Given the description of an element on the screen output the (x, y) to click on. 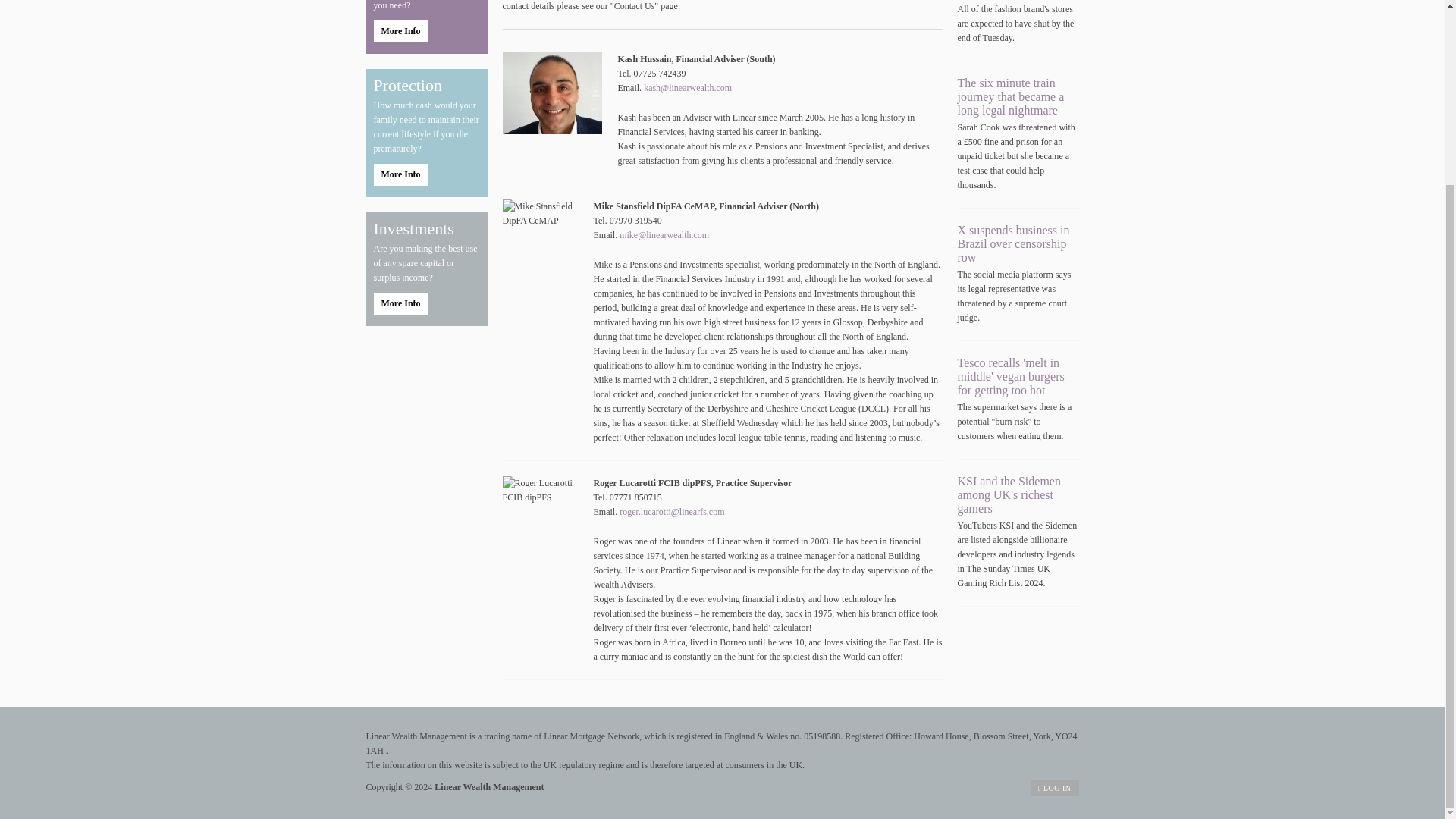
More Info (400, 303)
KSI and the Sidemen among UK's richest gamers (1007, 495)
Protection (425, 85)
X suspends business in Brazil over censorship row (1012, 243)
X suspends business in Brazil over censorship row (1012, 243)
More Info (400, 174)
More Info (400, 31)
